Given the description of an element on the screen output the (x, y) to click on. 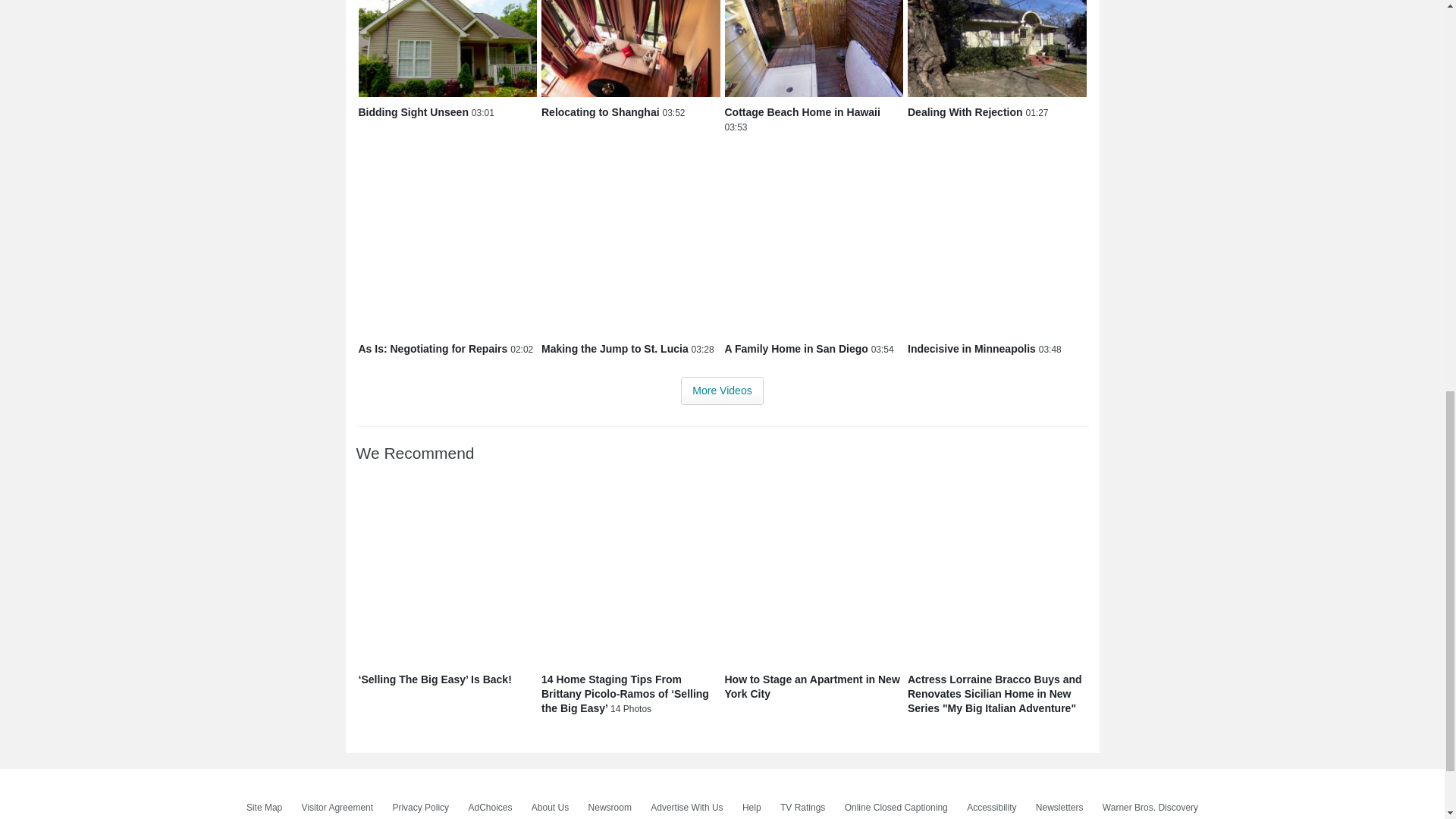
How to Stage an Apartment in New York City (814, 575)
